Given the description of an element on the screen output the (x, y) to click on. 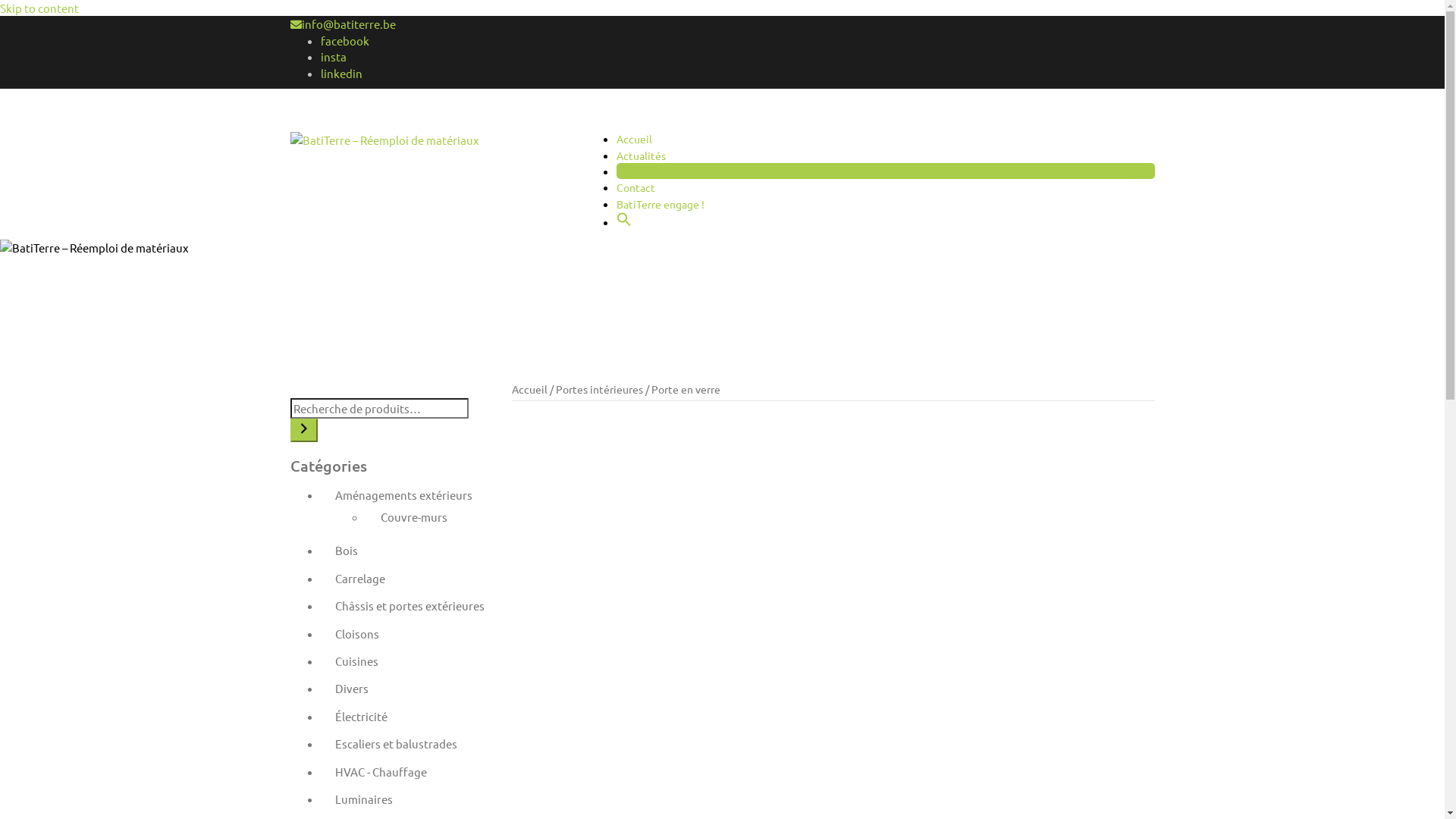
Cloisons Element type: text (357, 633)
linkedin Element type: text (340, 72)
HVAC - Chauffage Element type: text (380, 771)
Carrelage Element type: text (360, 578)
Contact Element type: text (634, 187)
insta Element type: text (332, 56)
info@batiterre.be Element type: text (348, 23)
Divers Element type: text (351, 687)
Luminaires Element type: text (363, 798)
Cuisines Element type: text (356, 660)
BatiTerre engage ! Element type: text (659, 203)
Accueil Element type: text (529, 388)
Skip to content Element type: text (39, 7)
Accueil Element type: text (633, 138)
Couvre-murs Element type: text (413, 516)
facebook Element type: text (344, 40)
Escaliers et balustrades Element type: text (396, 743)
Catalogue Element type: text (640, 171)
Bois Element type: text (346, 549)
